Given the description of an element on the screen output the (x, y) to click on. 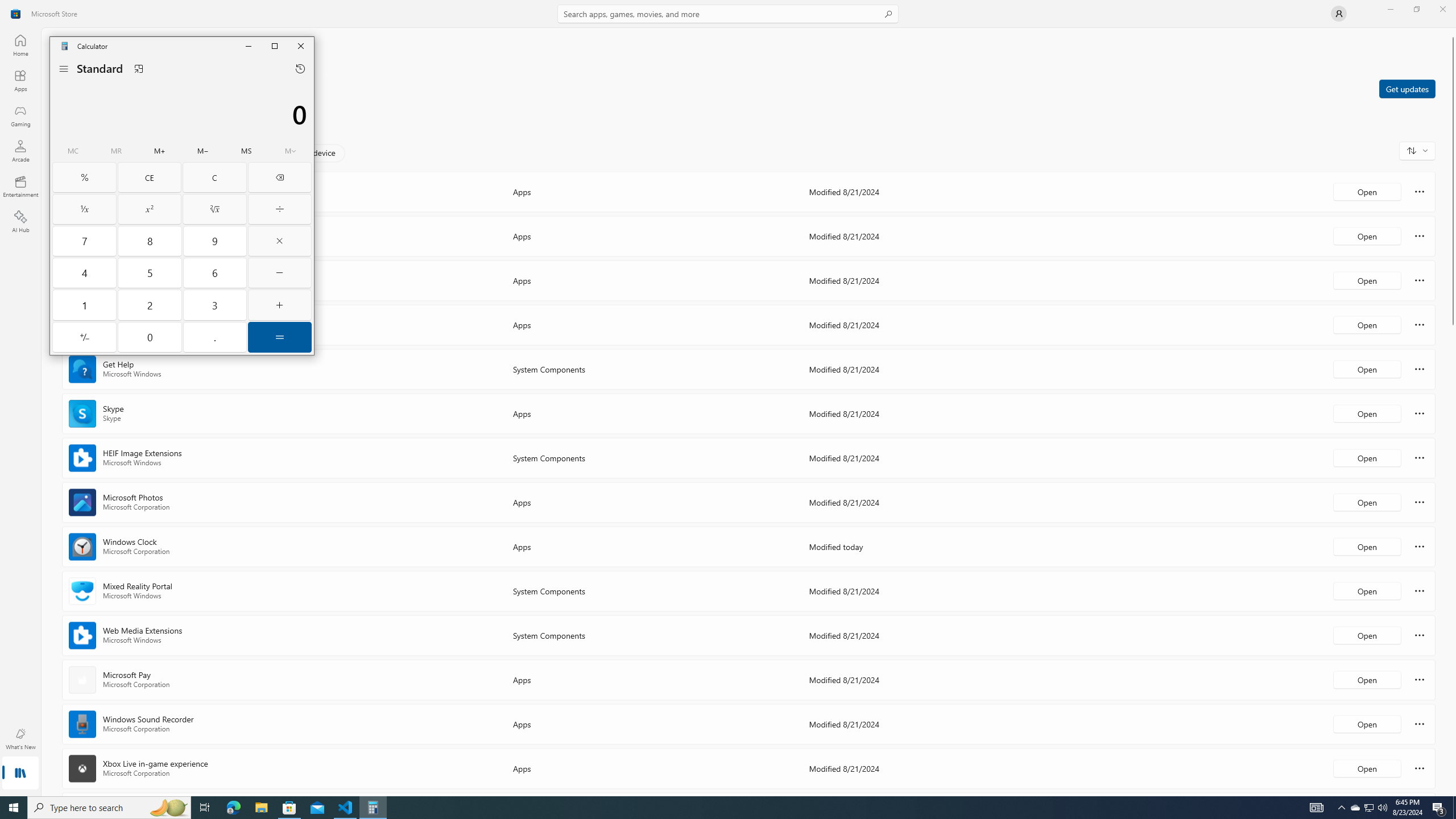
Clear entry (149, 177)
Minimize Microsoft Store (1390, 9)
Home (20, 45)
